Given the description of an element on the screen output the (x, y) to click on. 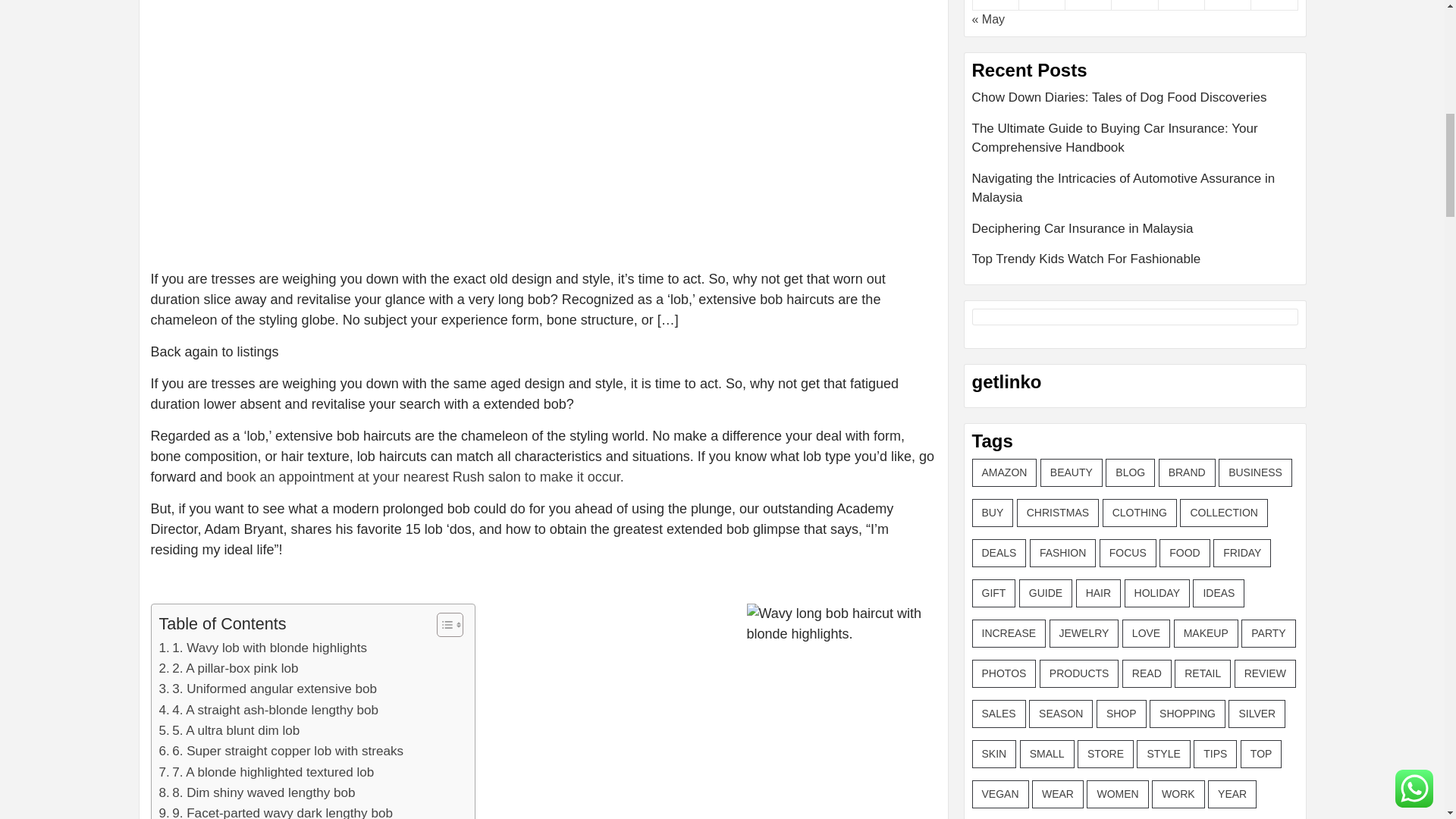
5. A ultra blunt dim lob (228, 730)
1. Wavy lob with blonde highlights (263, 648)
9. Facet-parted wavy dark lengthy bob (275, 811)
4. A straight ash-blonde lengthy bob (268, 710)
9. Facet-parted wavy dark lengthy bob (275, 811)
7. A blonde highlighted textured lob (266, 772)
6. Super straight copper lob with streaks (281, 751)
5. A ultra blunt dim lob (228, 730)
7. A blonde highlighted textured lob (266, 772)
